Given the description of an element on the screen output the (x, y) to click on. 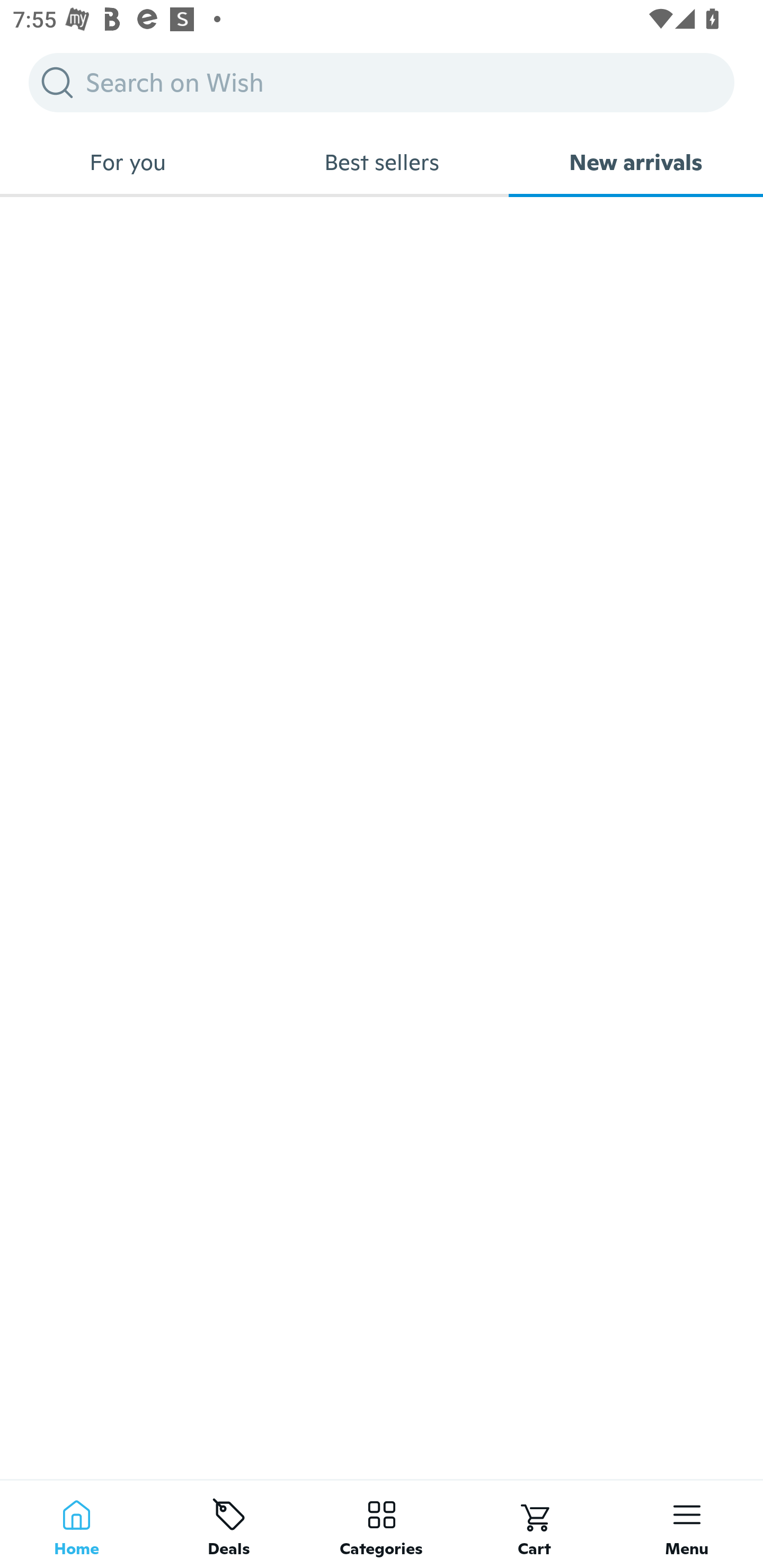
Search on Wish (381, 82)
For you (127, 161)
Best sellers (381, 161)
New arrivals (635, 161)
Home (76, 1523)
Deals (228, 1523)
Categories (381, 1523)
Cart (533, 1523)
Menu (686, 1523)
